Given the description of an element on the screen output the (x, y) to click on. 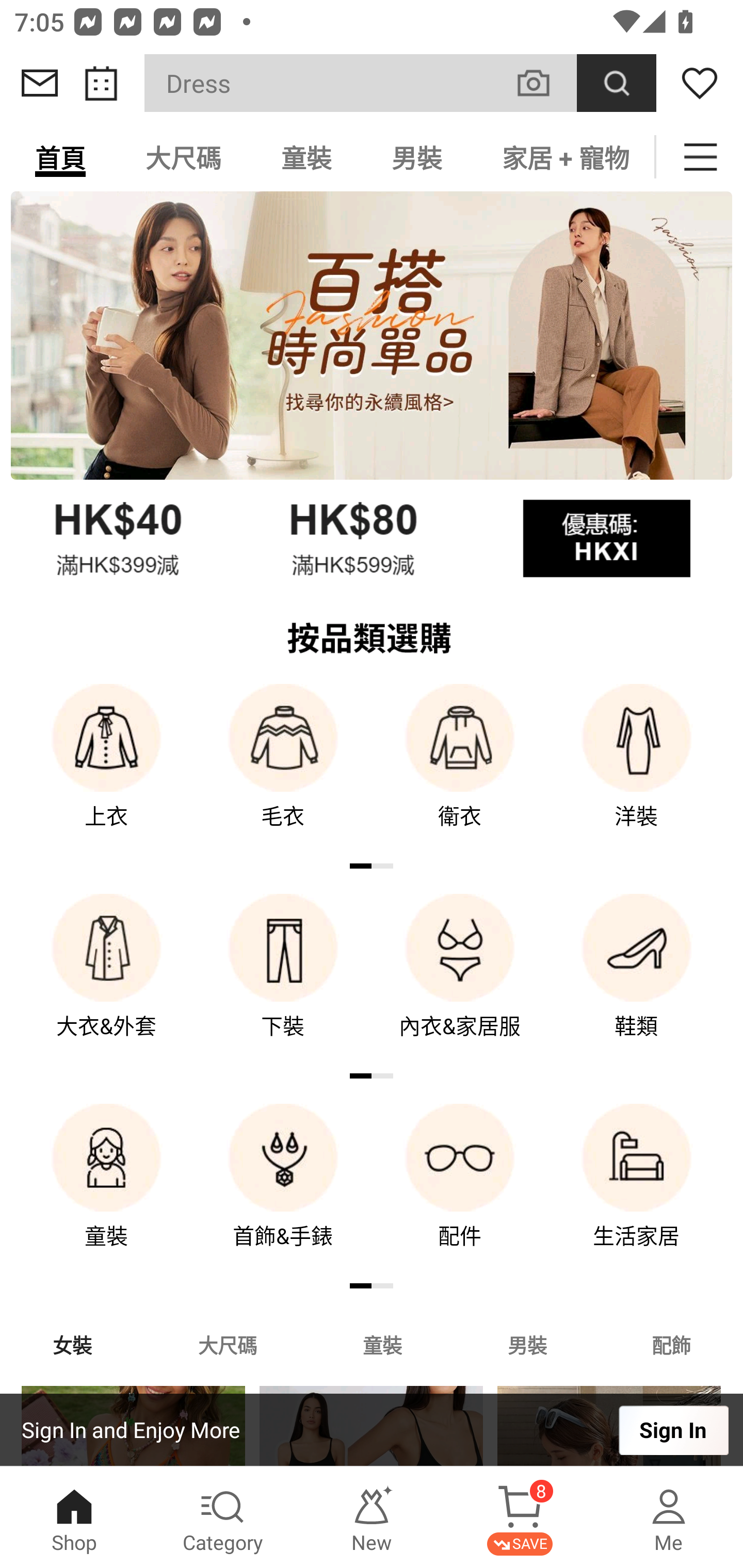
Wishlist (699, 82)
VISUAL SEARCH (543, 82)
首頁 (60, 156)
大尺碼 (183, 156)
童裝 (306, 156)
男裝 (416, 156)
家居 + 寵物 (563, 156)
上衣 (105, 769)
毛衣 (282, 769)
衛衣 (459, 769)
洋裝 (636, 769)
大衣&外套 (105, 979)
下裝 (282, 979)
內衣&家居服 (459, 979)
鞋類 (636, 979)
童裝 (105, 1189)
首飾&手錶 (282, 1189)
配件 (459, 1189)
生活家居 (636, 1189)
女裝 (72, 1344)
大尺碼 (226, 1344)
童裝 (381, 1344)
男裝 (527, 1344)
配飾 (671, 1344)
Sign In and Enjoy More Sign In (371, 1429)
Category (222, 1517)
New (371, 1517)
Cart 8 SAVE (519, 1517)
Me (668, 1517)
